Given the description of an element on the screen output the (x, y) to click on. 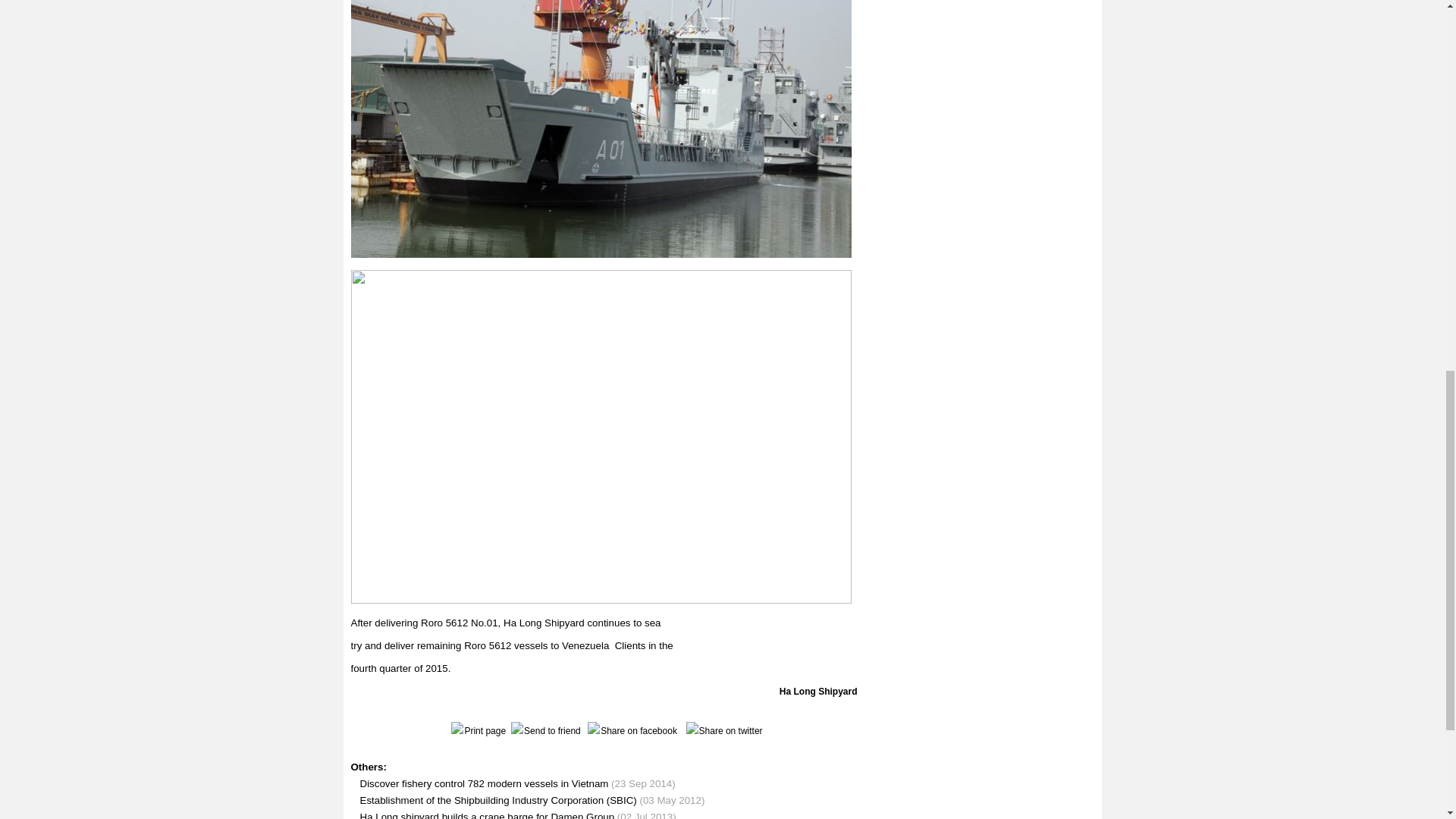
Discover fishery control 782 modern vessels in Vietnam (483, 783)
Share on twitter (722, 730)
Print page (475, 730)
Print page (475, 730)
Ha Long shipyard builds a crane barge for Damen Group (486, 815)
Share on facebook (630, 730)
